Given the description of an element on the screen output the (x, y) to click on. 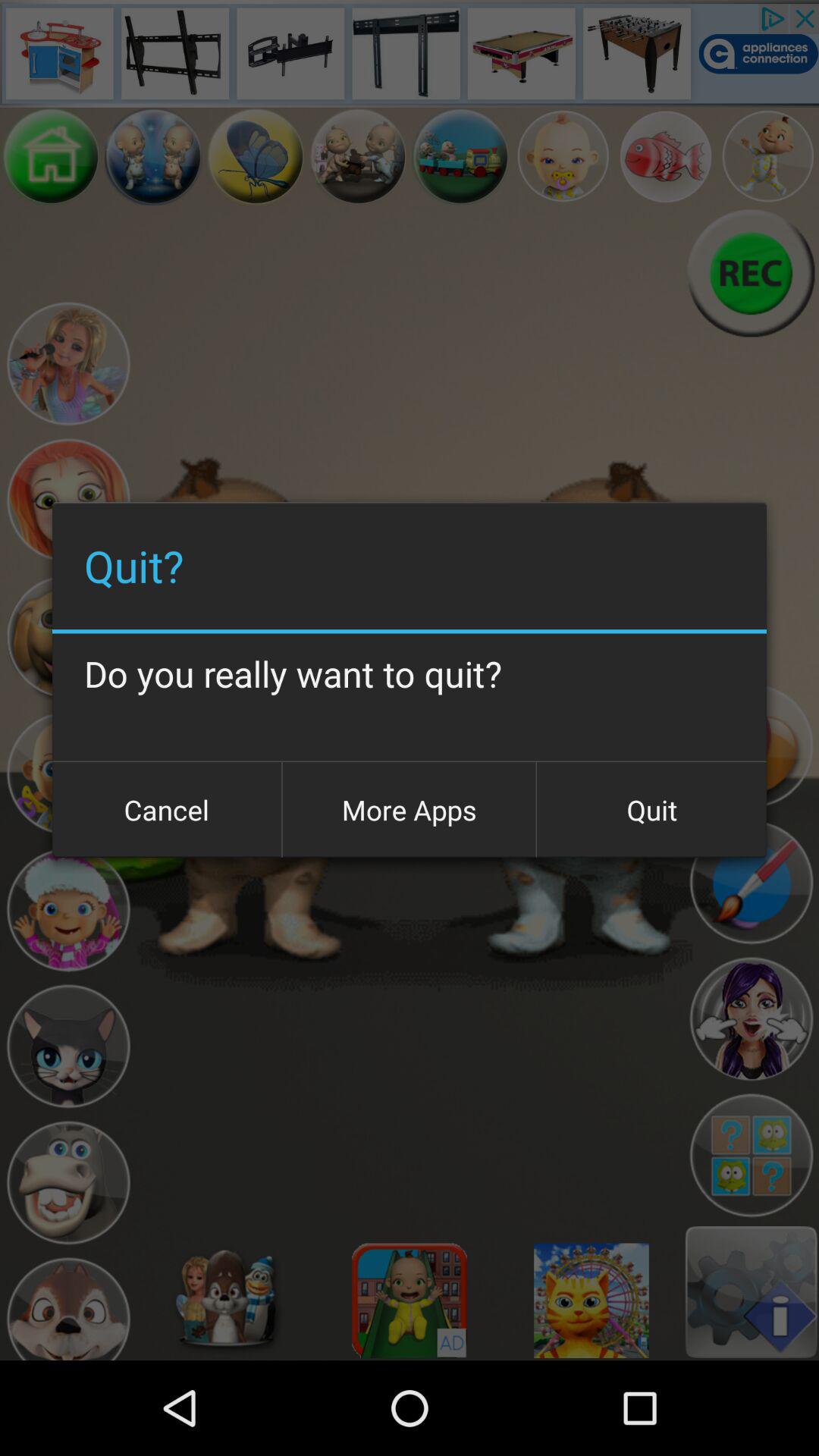
image to be descriptive on left (562, 156)
